Given the description of an element on the screen output the (x, y) to click on. 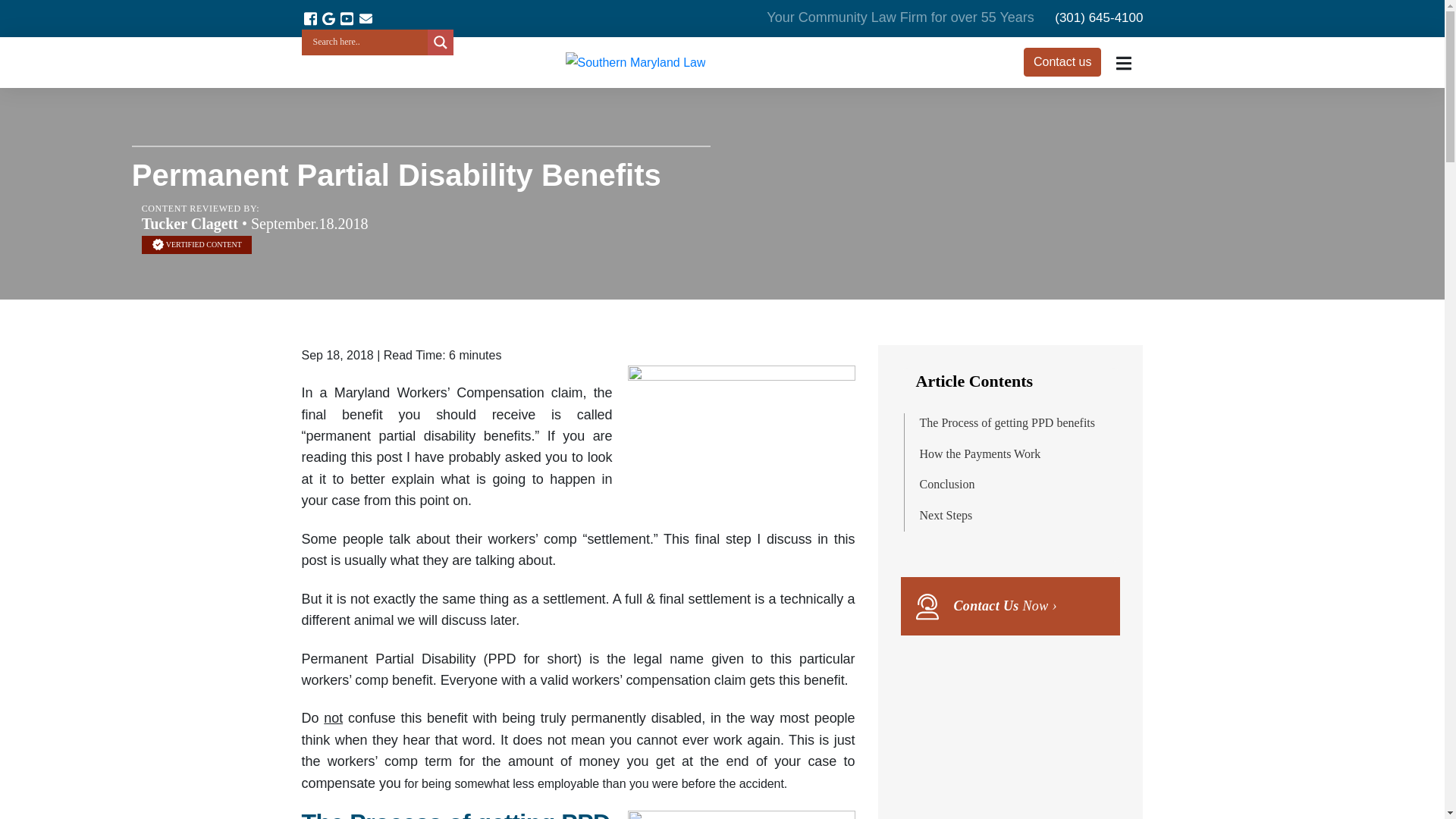
Contact us (1061, 61)
